Given the description of an element on the screen output the (x, y) to click on. 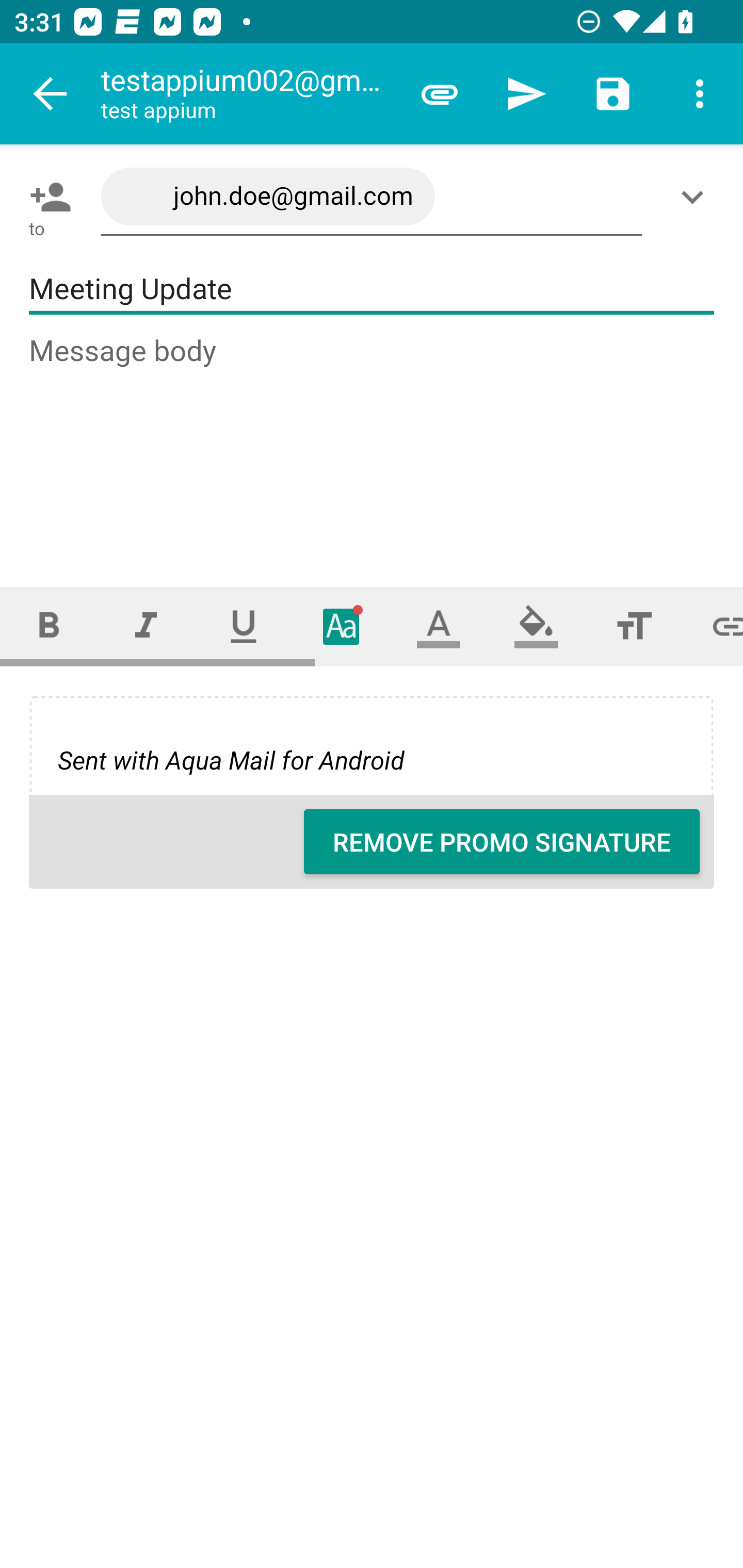
Navigate up (50, 93)
testappium002@gmail.com test appium (248, 93)
Attach (439, 93)
Send (525, 93)
Save (612, 93)
More options (699, 93)
john.doe@gmail.com,  (371, 197)
Pick contact: To (46, 196)
Show/Add CC/BCC (696, 196)
Meeting Update (371, 288)
Message body (372, 442)
Bold (48, 626)
Italic (145, 626)
Underline (243, 626)
Typeface (font) (341, 626)
Text color (438, 626)
Fill color (536, 626)
Font size (633, 626)
Set link (712, 626)
REMOVE PROMO SIGNATURE (501, 841)
